Given the description of an element on the screen output the (x, y) to click on. 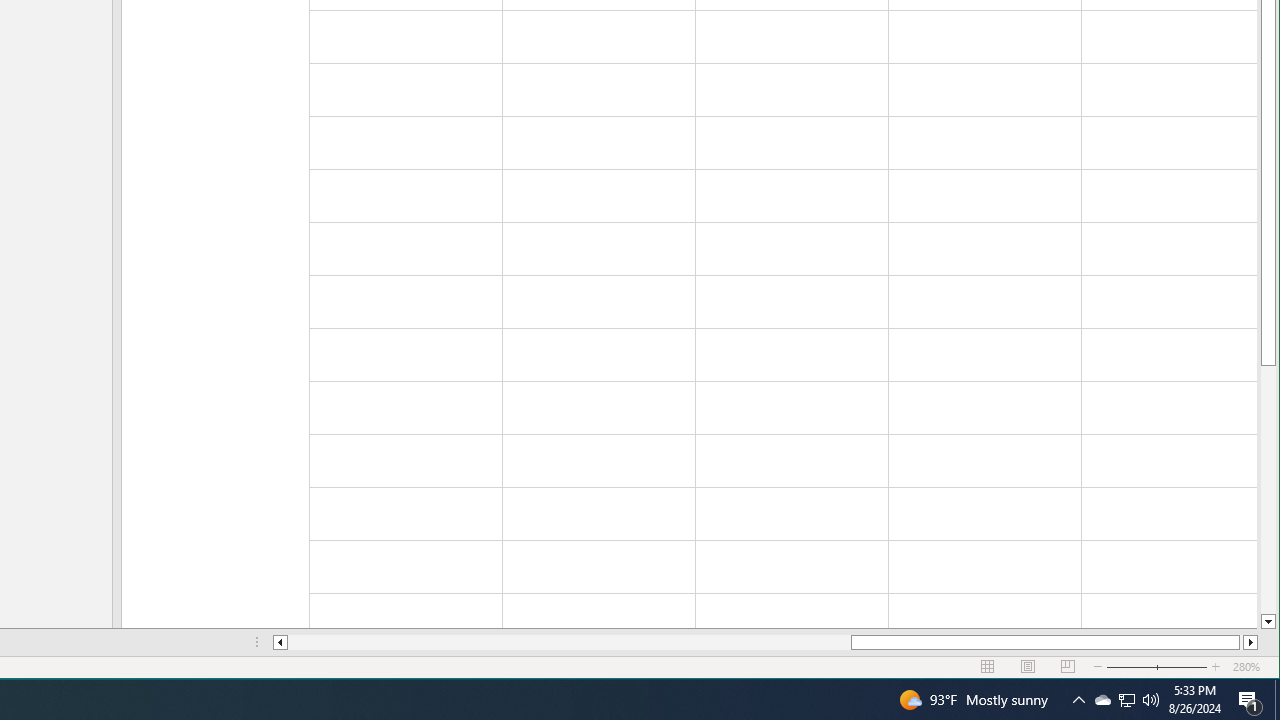
Action Center, 1 new notification (1250, 699)
User Promoted Notification Area (1126, 699)
